Given the description of an element on the screen output the (x, y) to click on. 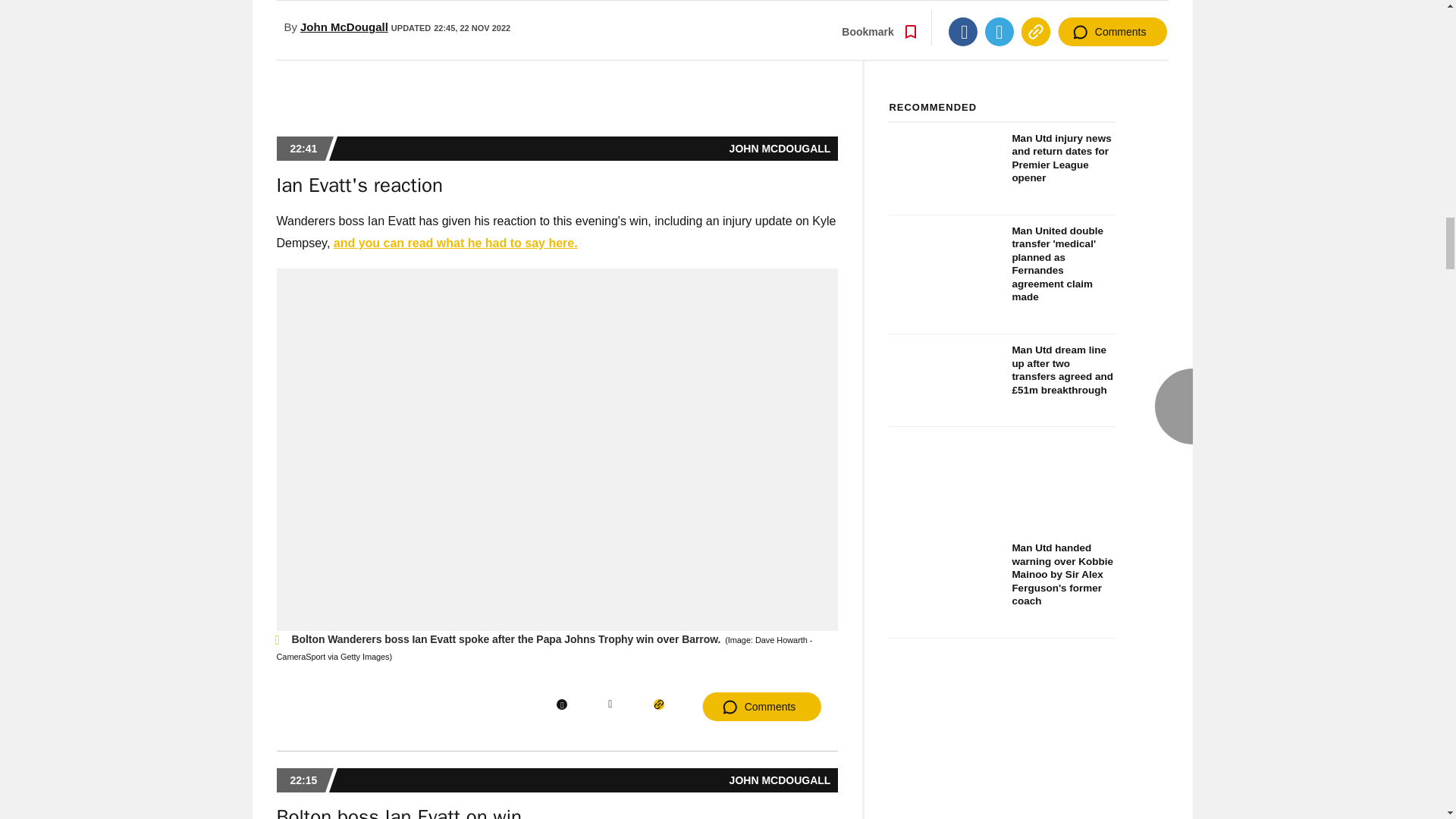
Facebook (561, 704)
Comments (761, 706)
Twitter (610, 704)
